Given the description of an element on the screen output the (x, y) to click on. 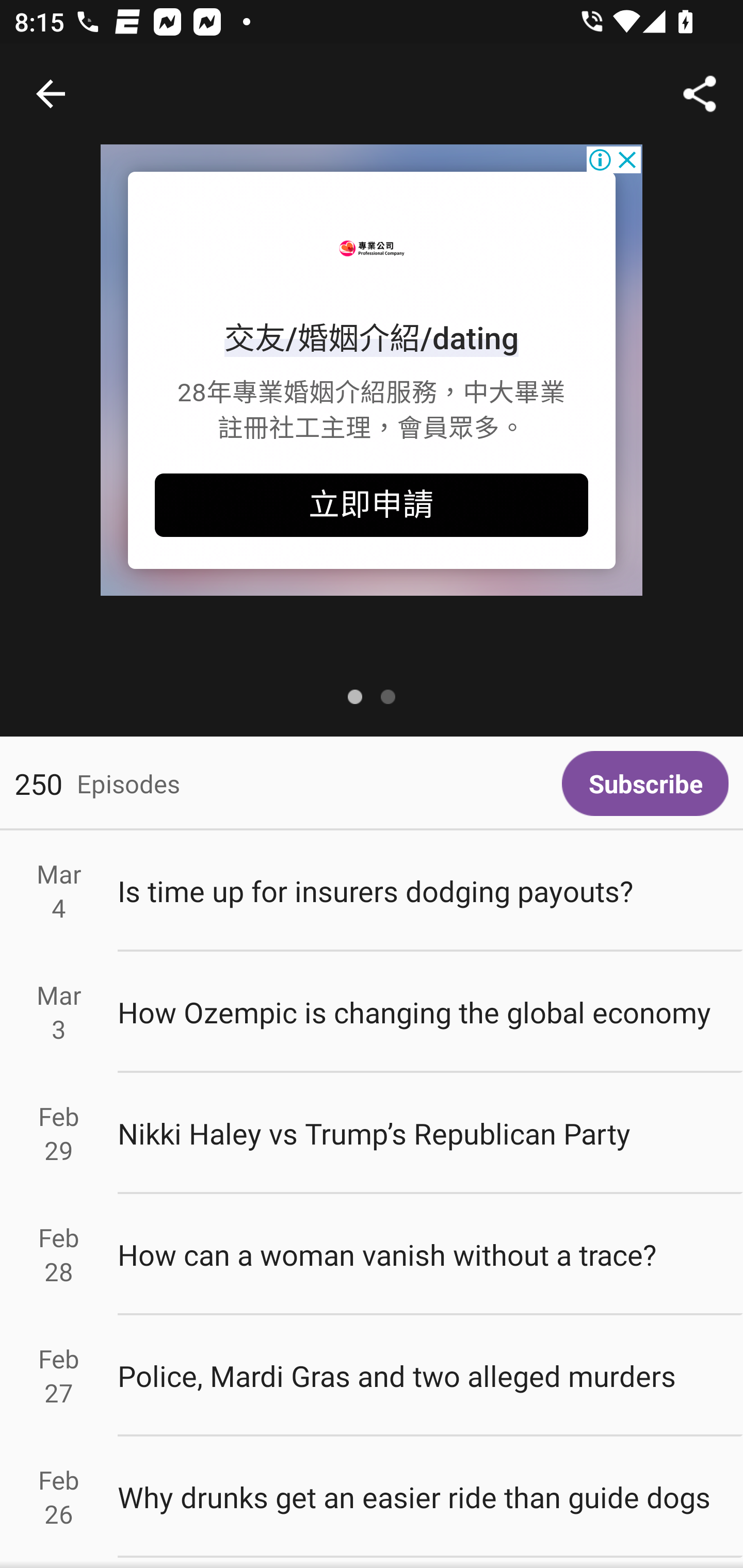
Navigate up (50, 93)
Share... (699, 93)
交友/婚姻介紹/dating (371, 338)
立即申請 (371, 505)
Subscribe (644, 783)
Mar 4 Is time up for insurers dodging payouts? (371, 891)
Mar 3 How Ozempic is changing the global economy (371, 1011)
Feb 29 Nikki Haley vs Trump’s Republican Party (371, 1133)
Feb 28 How can a woman vanish without a trace? (371, 1254)
Feb 27 Police, Mardi Gras and two alleged murders (371, 1375)
